Given the description of an element on the screen output the (x, y) to click on. 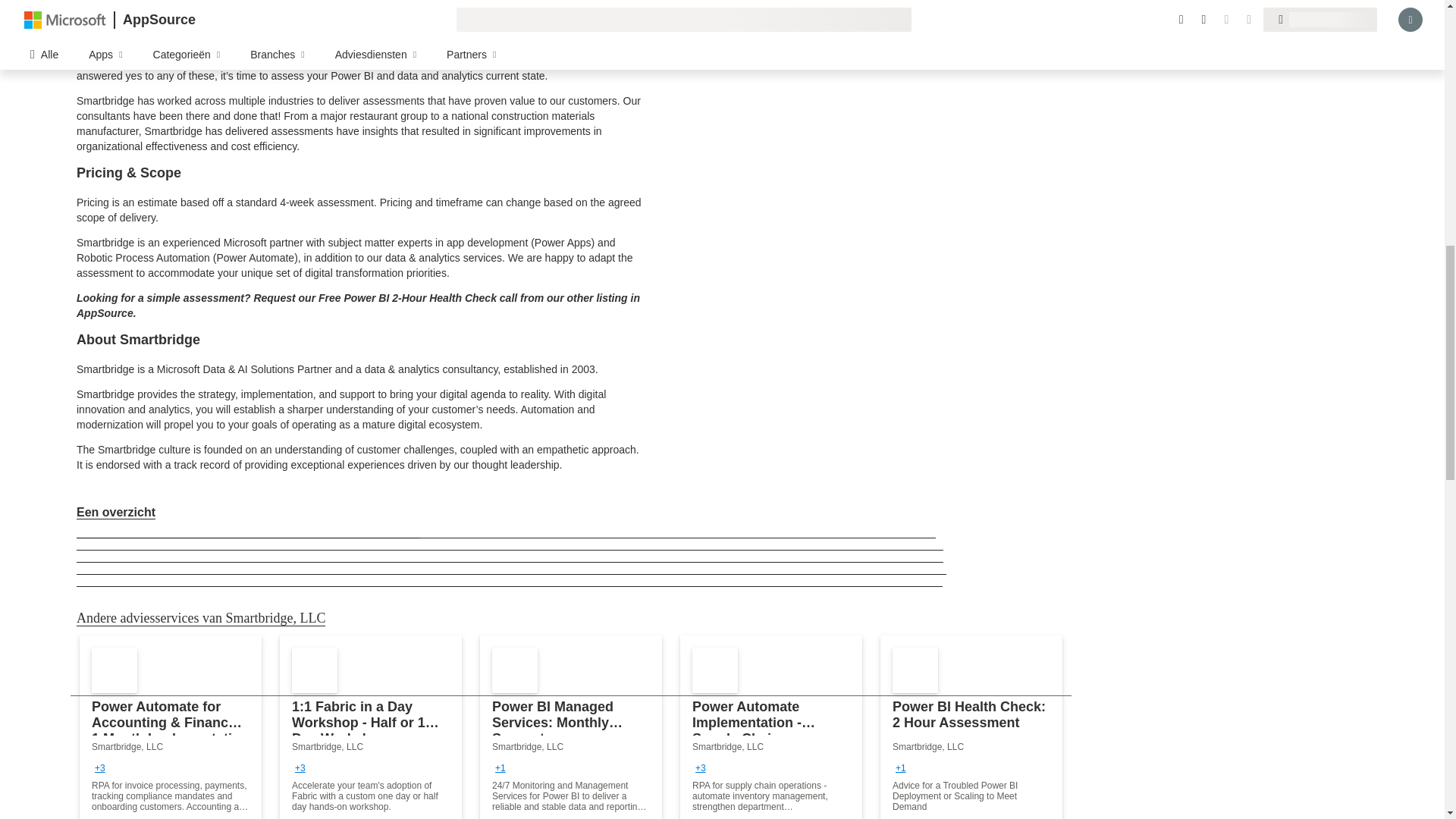
Power Automate Implementation - Supply Chain (770, 727)
1:1 Fabric in a Day Workshop - Half or 1 Day Workshop (370, 727)
Power BI Managed Services: Monthly Support (571, 727)
Power BI Health Check: 2 Hour Assessment (971, 727)
